Given the description of an element on the screen output the (x, y) to click on. 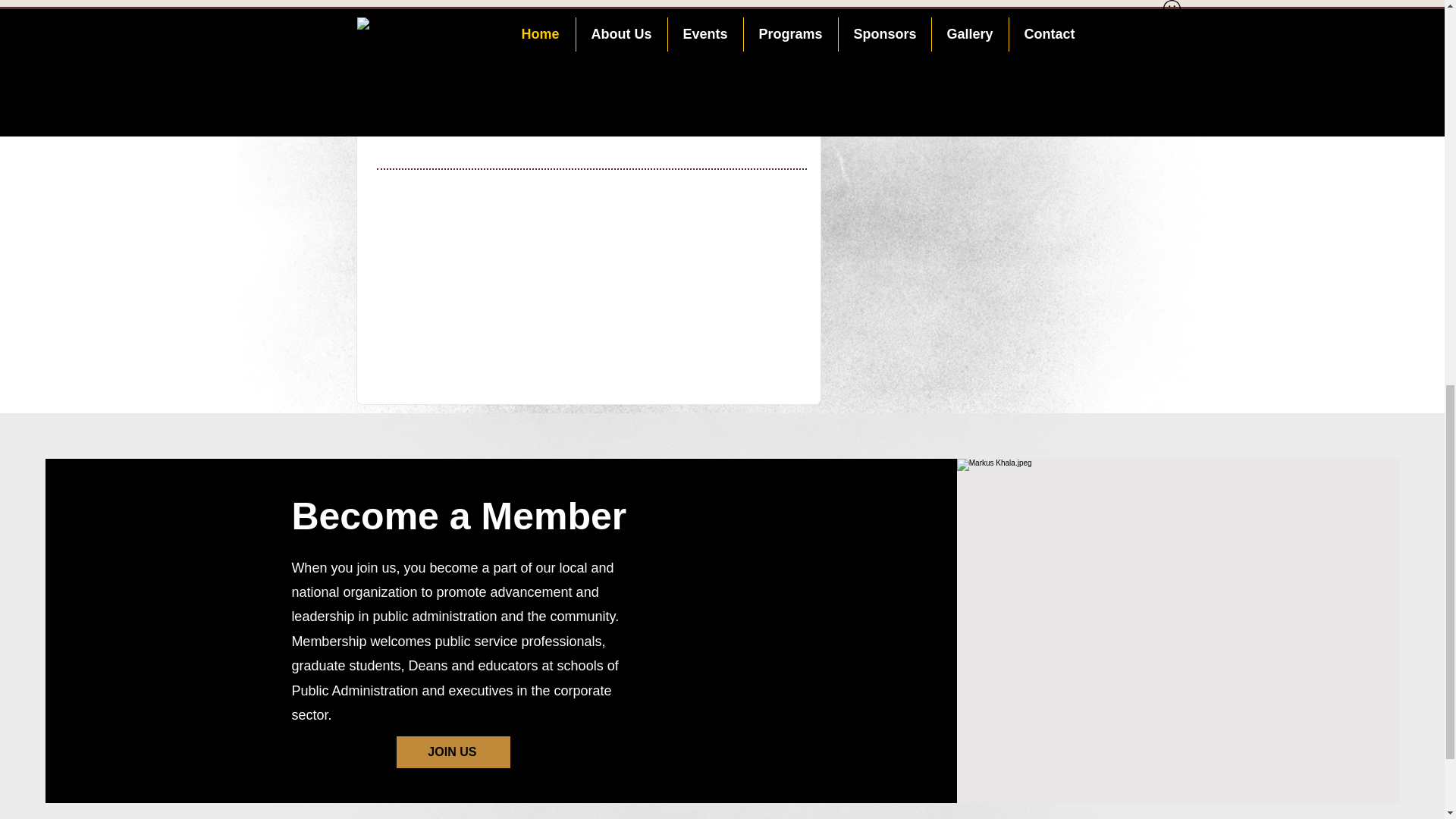
Learn More (465, 113)
JOIN US (453, 752)
